Given the description of an element on the screen output the (x, y) to click on. 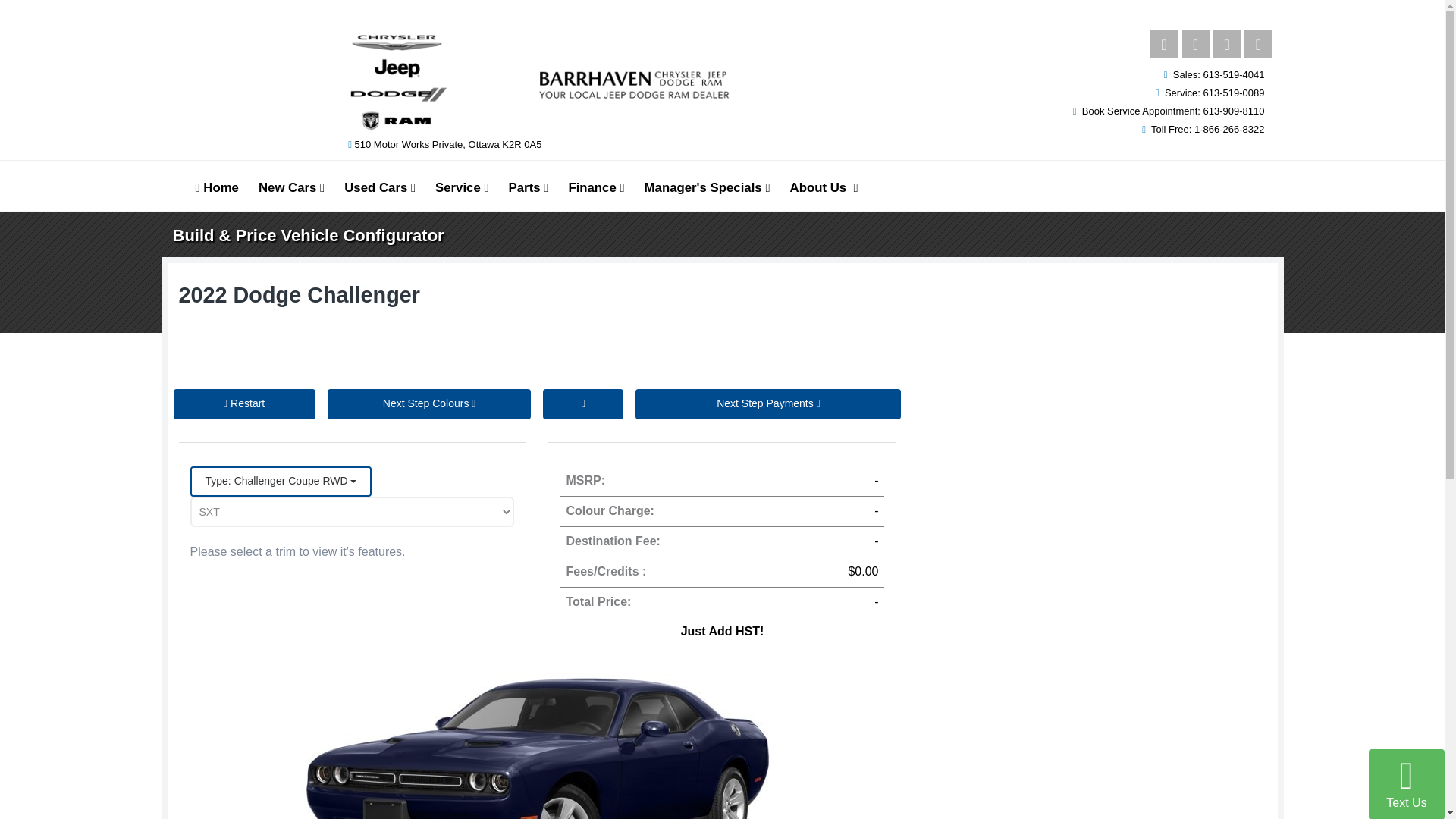
Home (215, 187)
home page (215, 187)
Used Cars (379, 187)
New Cars (291, 187)
like us on facebook (1163, 43)
follow us on instagram (1195, 43)
 510 Motor Works Private, Ottawa K2R 0A5 (447, 144)
  Book Service Appointment: 613-909-8110 (1172, 111)
  Toll Free: 1-866-266-8322 (1206, 129)
  Service: 613-519-0089 (1214, 92)
  Sales: 613-519-4041 (1217, 74)
Barrhaven Chrysler Home Page (538, 82)
New Cars (291, 187)
follow us on Youtube (1226, 43)
